Given the description of an element on the screen output the (x, y) to click on. 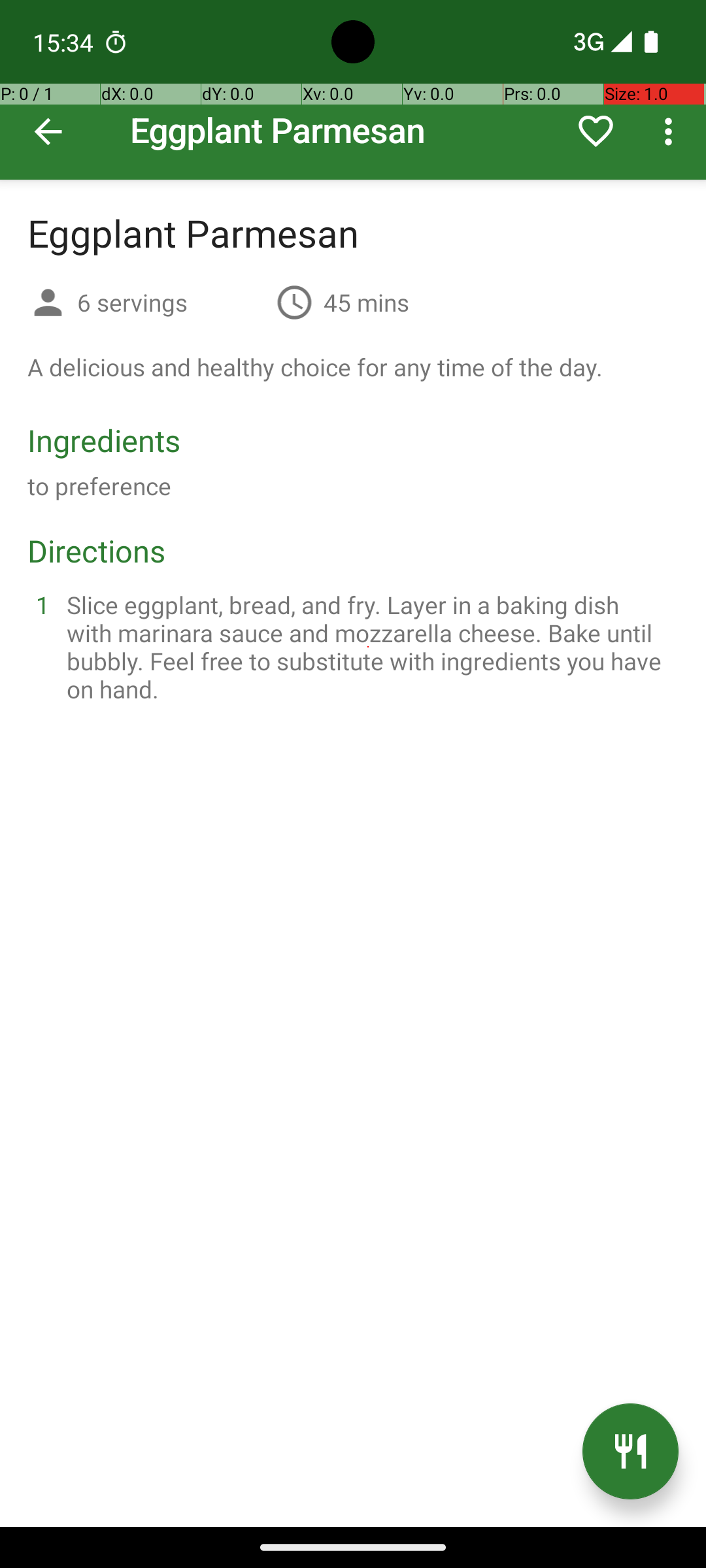
Slice eggplant, bread, and fry. Layer in a baking dish with marinara sauce and mozzarella cheese. Bake until bubbly. Feel free to substitute with ingredients you have on hand. Element type: android.widget.TextView (368, 646)
